Given the description of an element on the screen output the (x, y) to click on. 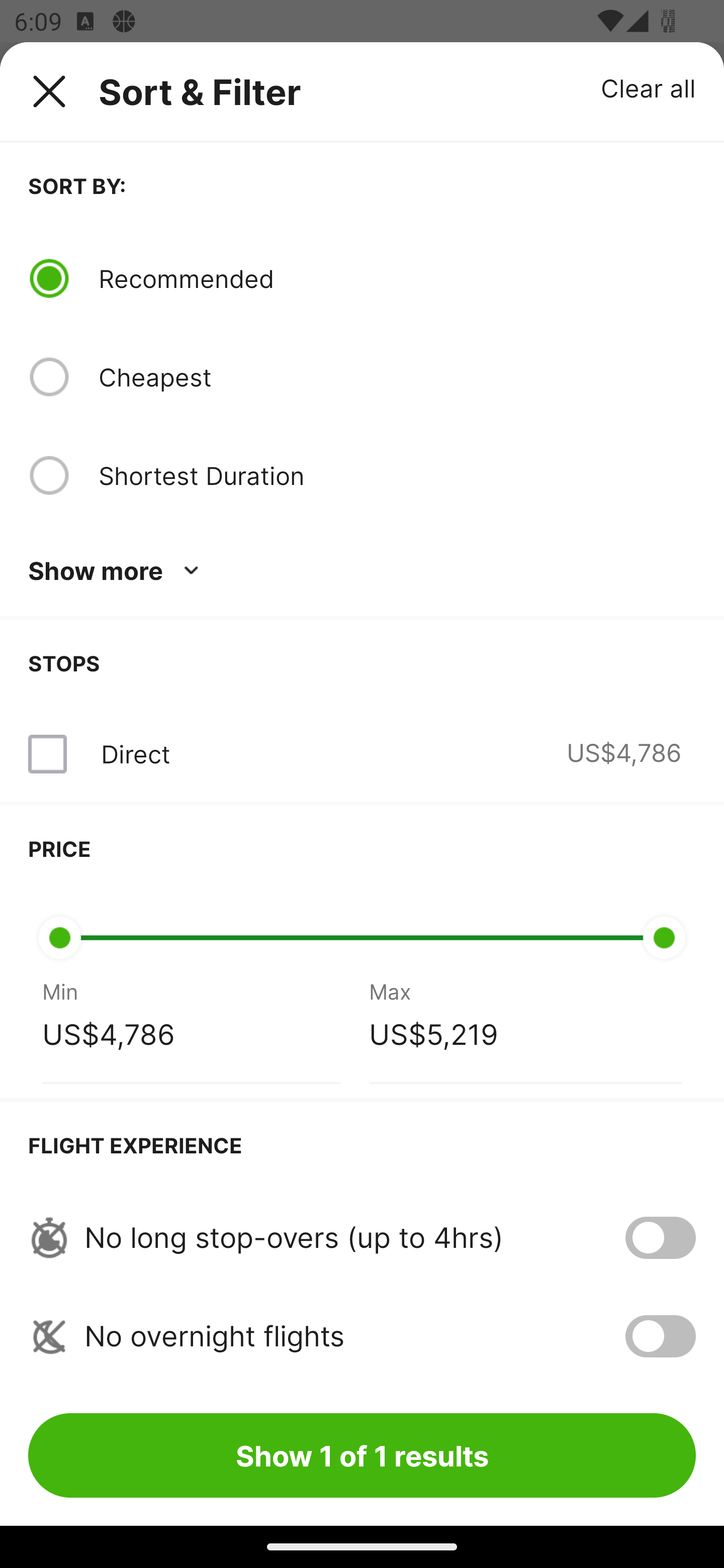
Clear all (648, 87)
Recommended  (396, 278)
Cheapest (396, 377)
Shortest Duration (396, 474)
Show more (116, 570)
Direct US$4,786 (362, 754)
Direct (135, 753)
Show 1 of 1 results (361, 1454)
